Given the description of an element on the screen output the (x, y) to click on. 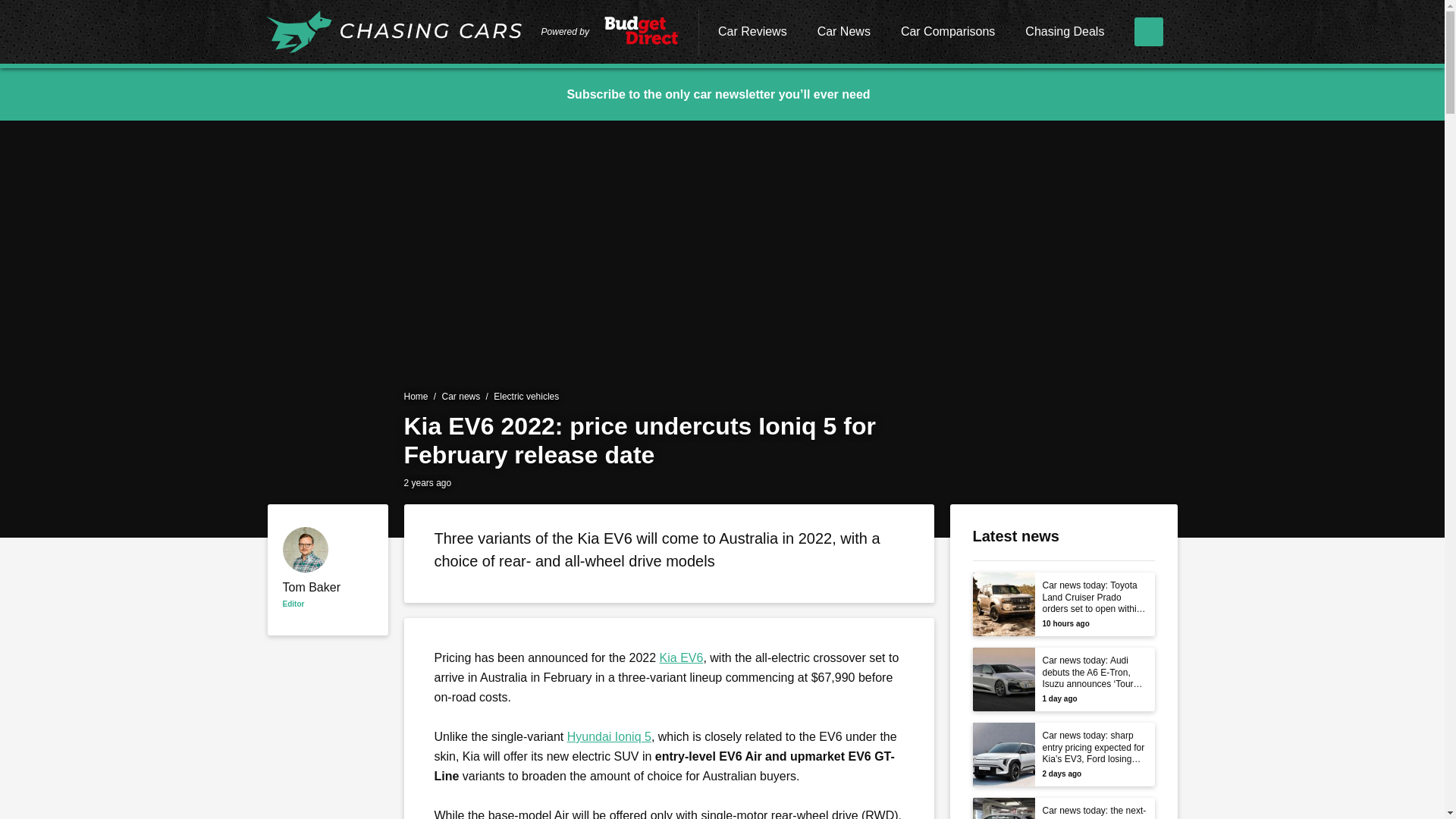
Car Reviews (752, 33)
Car News (843, 33)
